Given the description of an element on the screen output the (x, y) to click on. 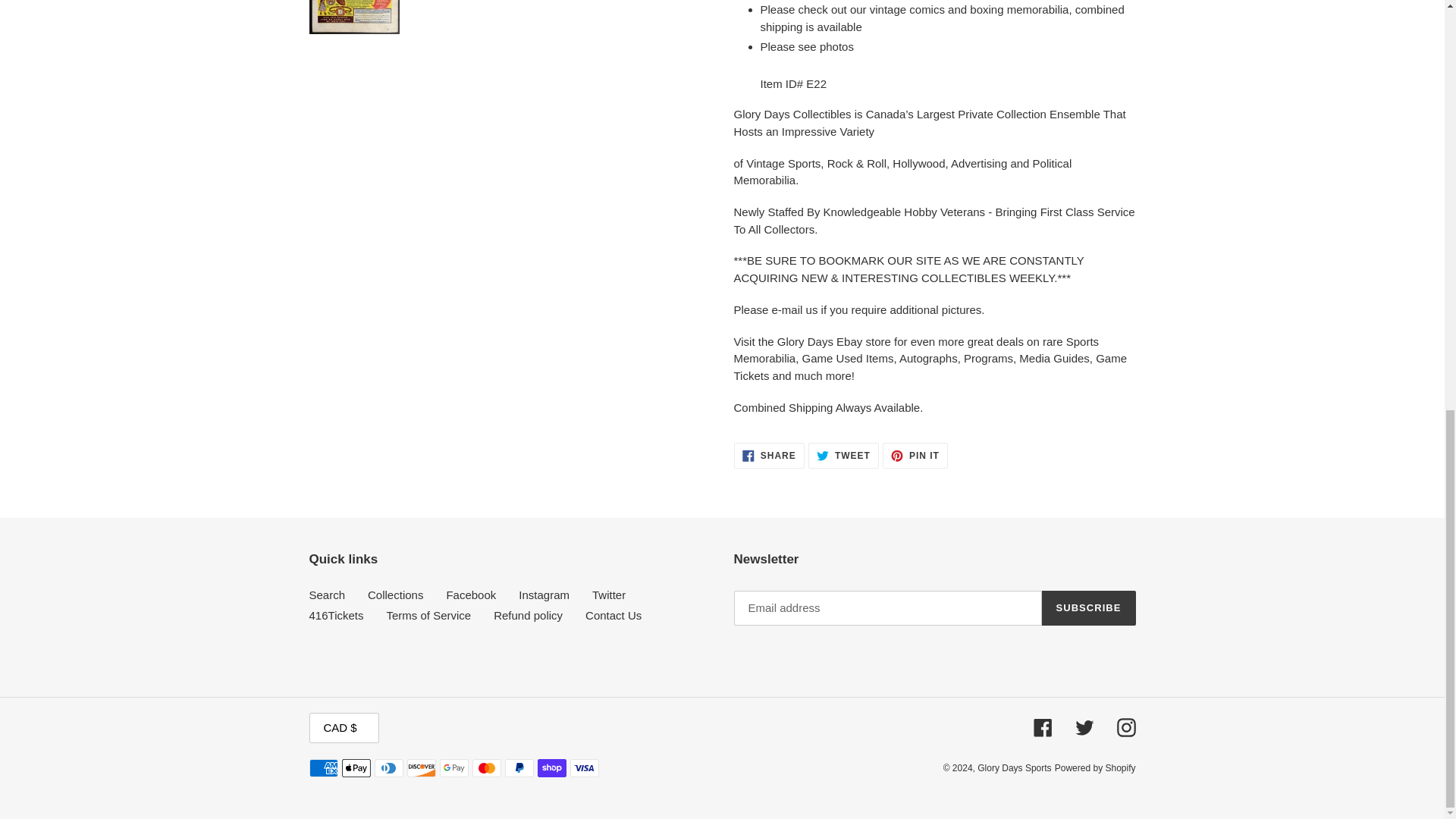
Search (769, 455)
Instagram (327, 594)
Facebook (843, 455)
Collections (543, 594)
